Given the description of an element on the screen output the (x, y) to click on. 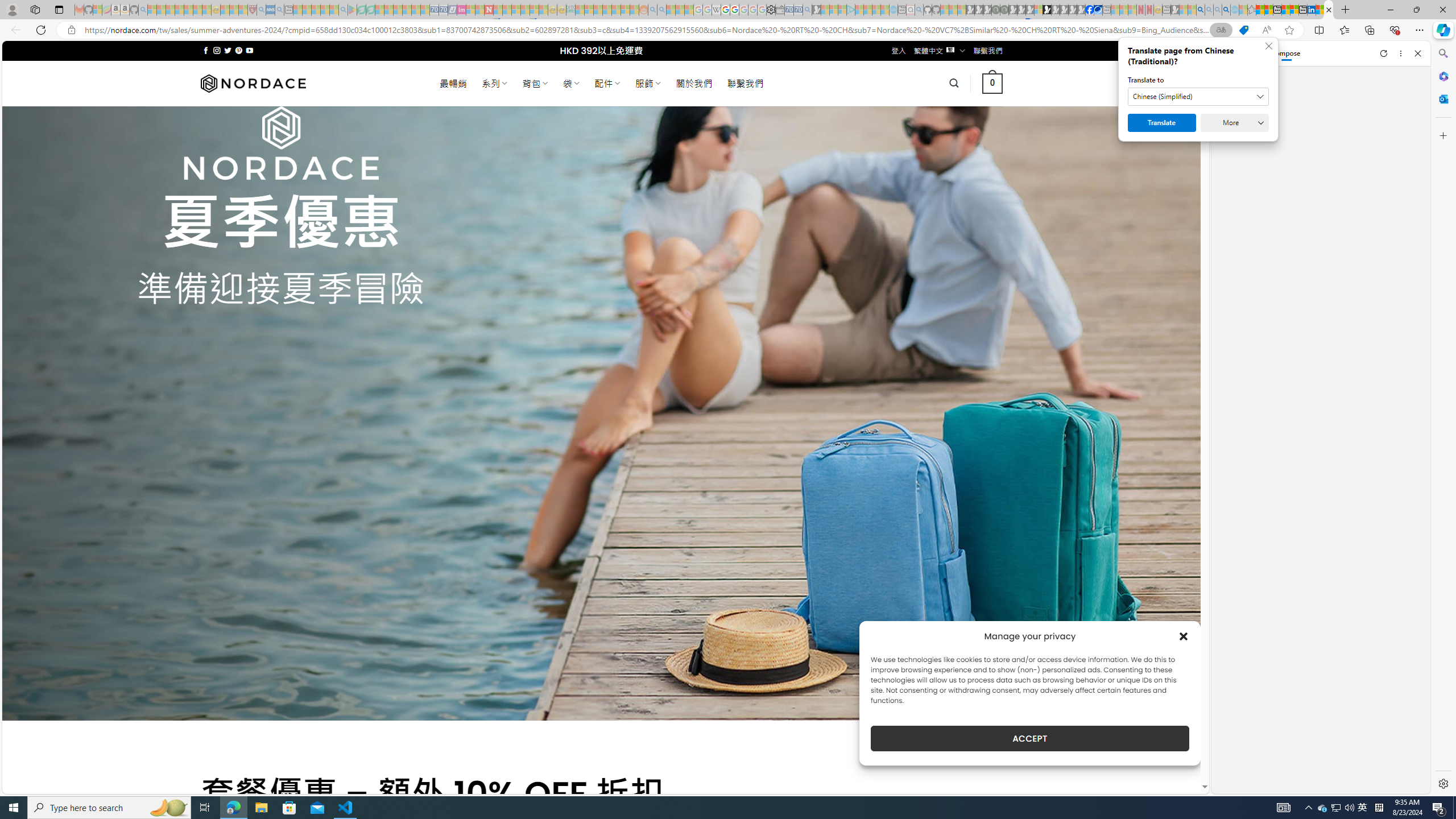
Expert Portfolios - Sleeping (606, 9)
Show translate options (1220, 29)
